Given the description of an element on the screen output the (x, y) to click on. 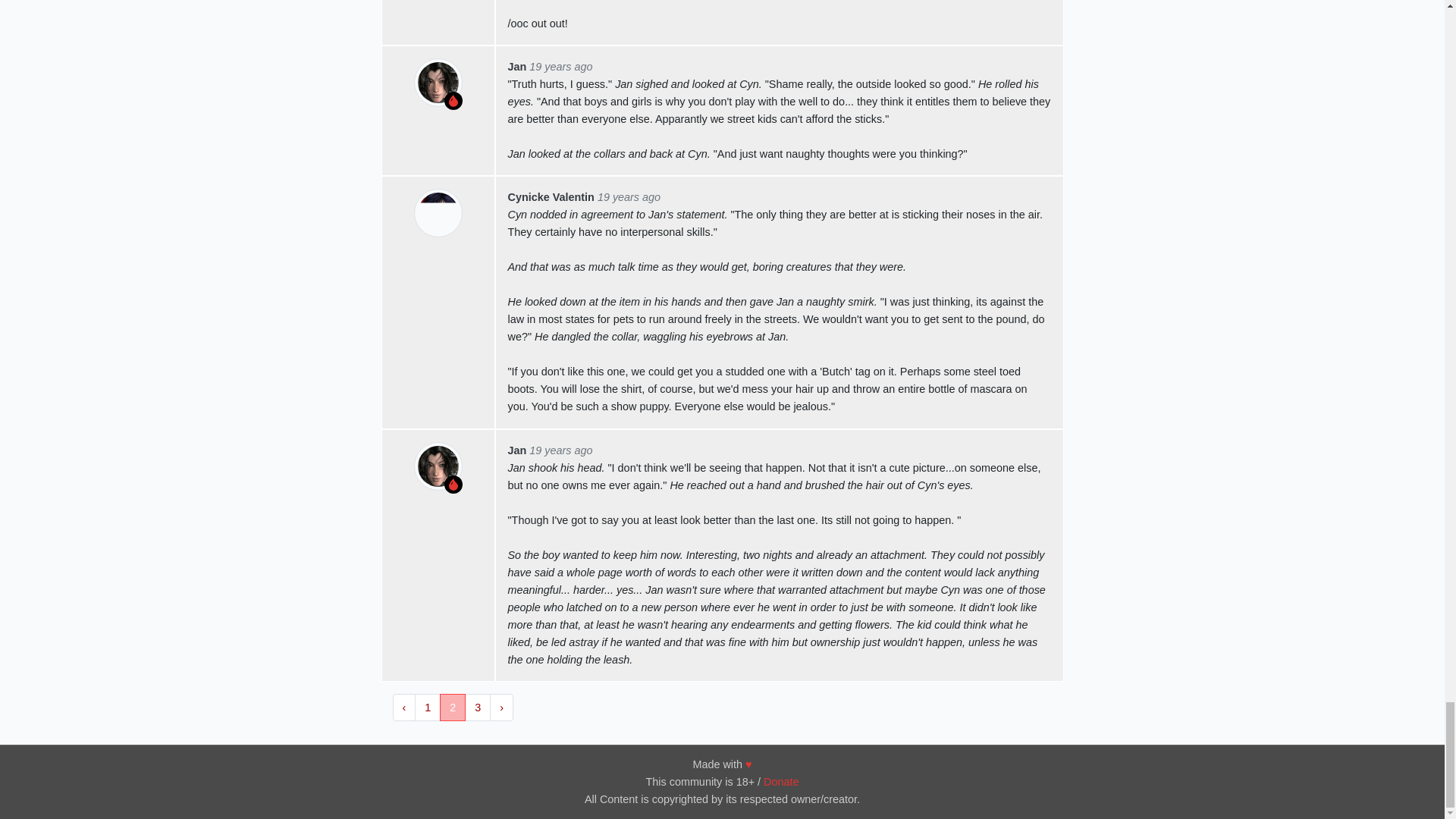
3 (477, 707)
Jan (517, 450)
1 (427, 707)
Donate (779, 782)
Jan (517, 66)
Cynicke Valentin (551, 196)
